Given the description of an element on the screen output the (x, y) to click on. 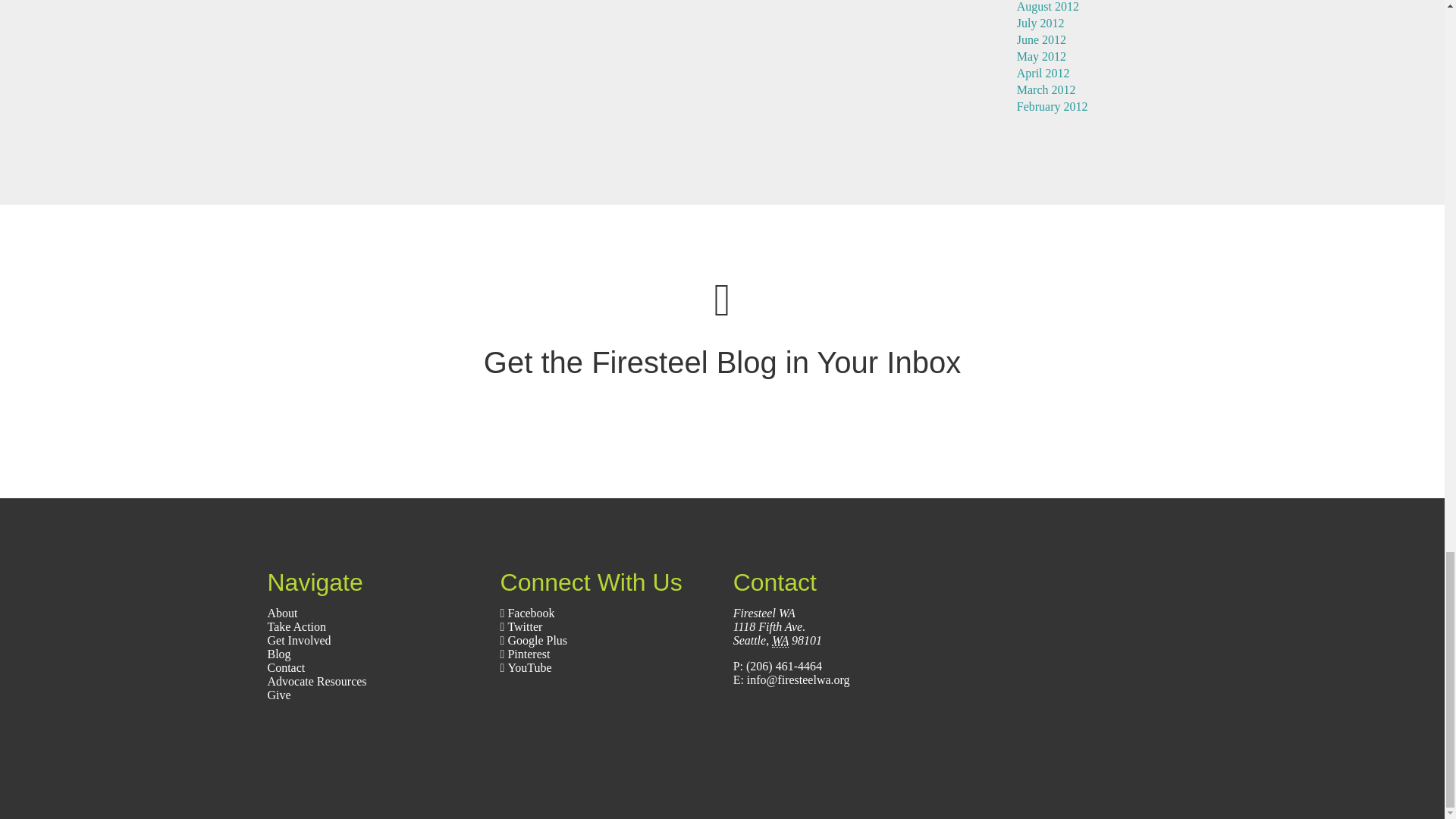
Washington (780, 640)
